Given the description of an element on the screen output the (x, y) to click on. 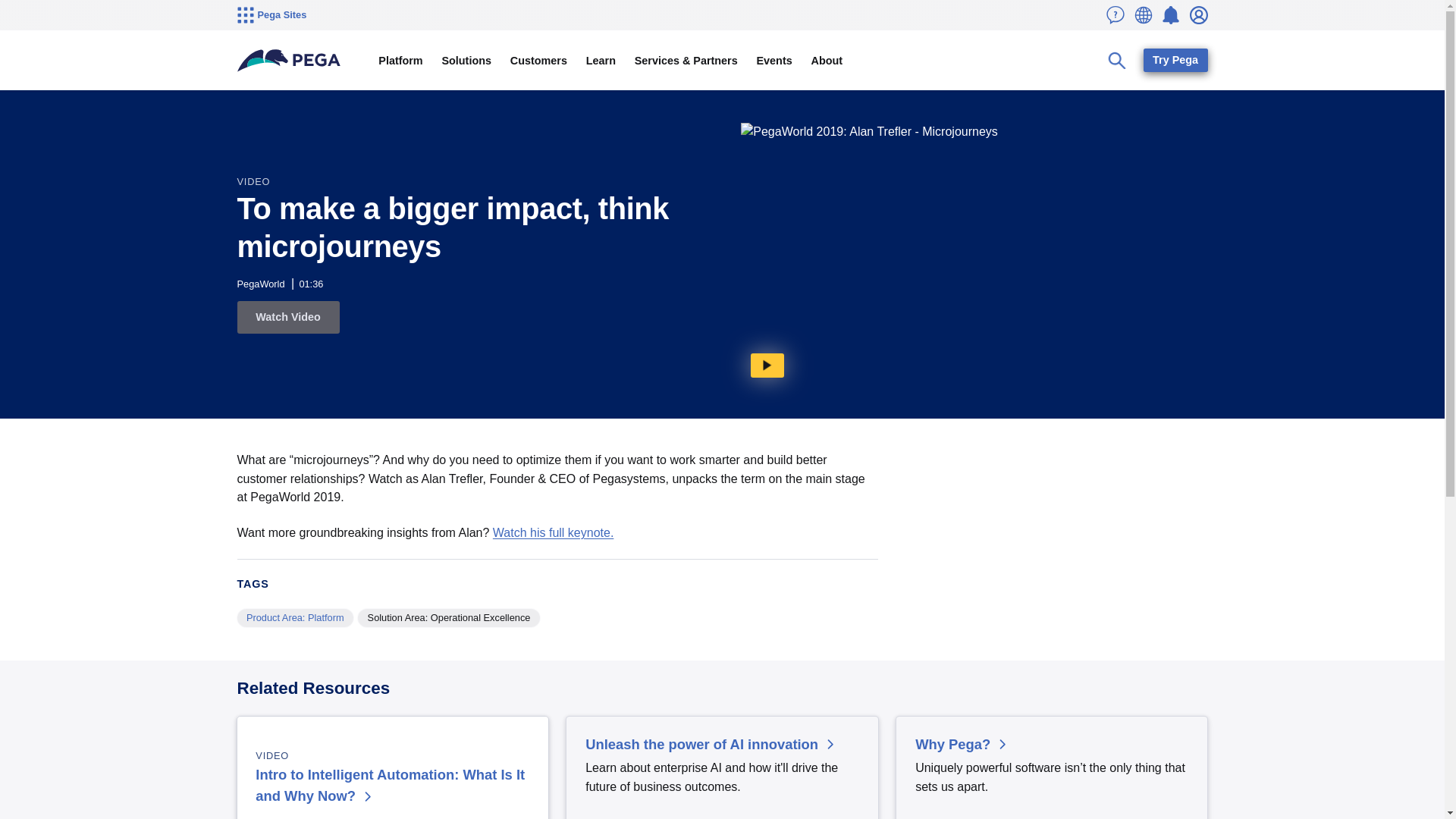
Platform (400, 60)
Solutions (466, 60)
Toggle Search Panel (1117, 60)
